Given the description of an element on the screen output the (x, y) to click on. 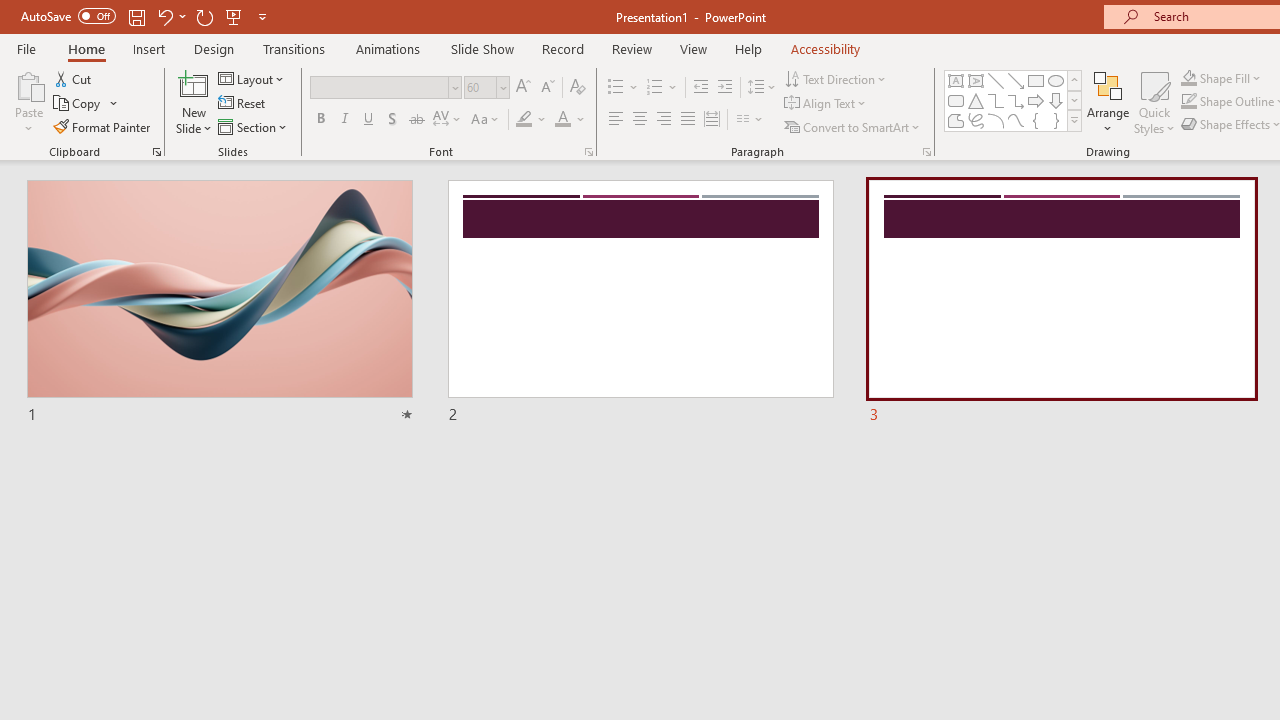
Align Text (826, 103)
Decrease Font Size (547, 87)
Align Left (616, 119)
Italic (344, 119)
Office Clipboard... (156, 151)
Section (254, 126)
Vertical Text Box (975, 80)
